Given the description of an element on the screen output the (x, y) to click on. 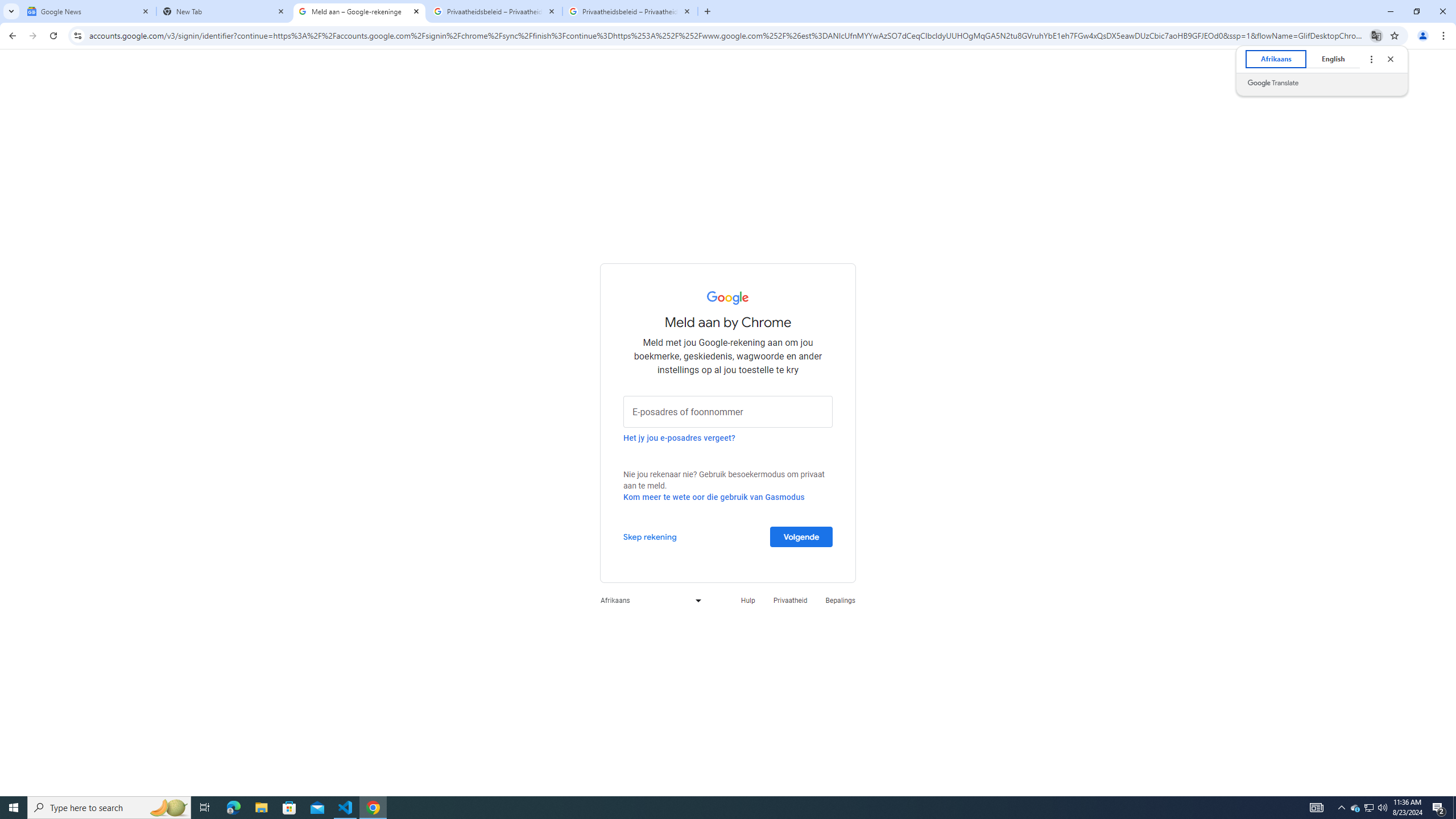
Running applications (717, 807)
File Explorer (261, 807)
Task View (204, 807)
Show desktop (1454, 807)
Action Center, 2 new notifications (1439, 807)
Het jy jou e-posadres vergeet? (678, 437)
Type here to search (108, 807)
